Given the description of an element on the screen output the (x, y) to click on. 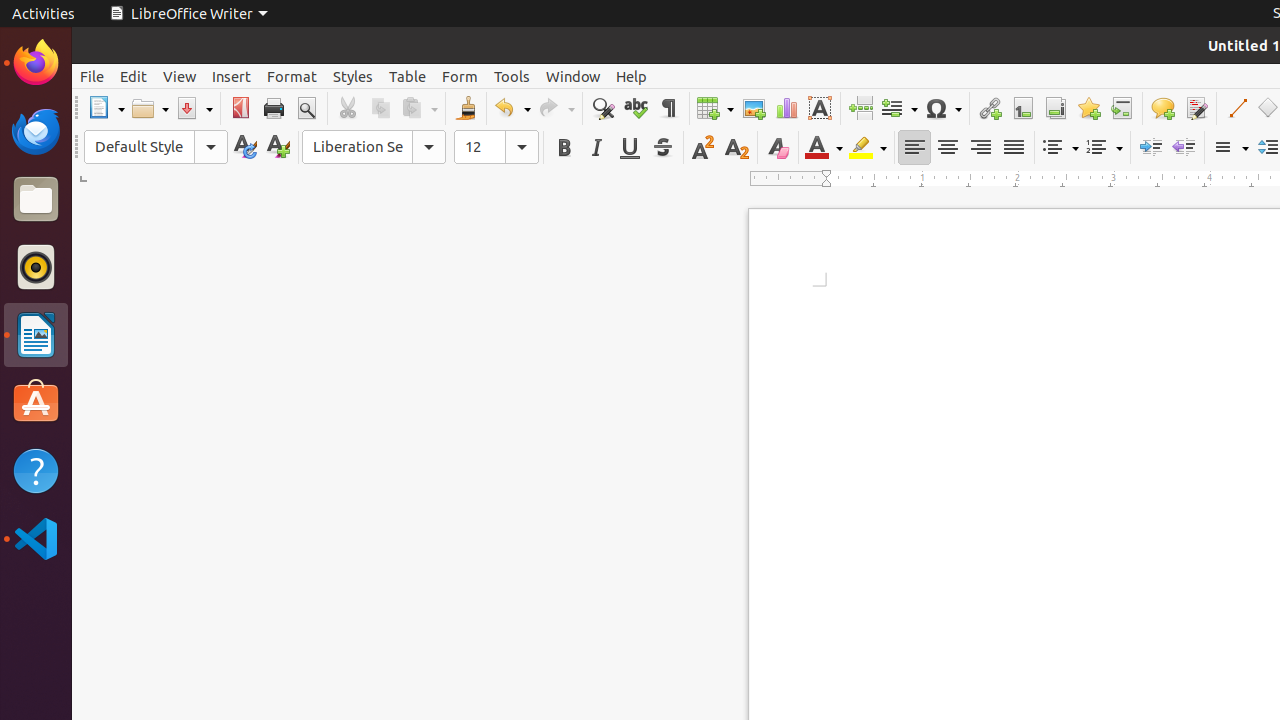
Spelling Element type: push-button (635, 108)
Print Element type: push-button (273, 108)
Thunderbird Mail Element type: push-button (36, 131)
Bold Element type: toggle-button (563, 147)
Subscript Element type: toggle-button (736, 147)
